Given the description of an element on the screen output the (x, y) to click on. 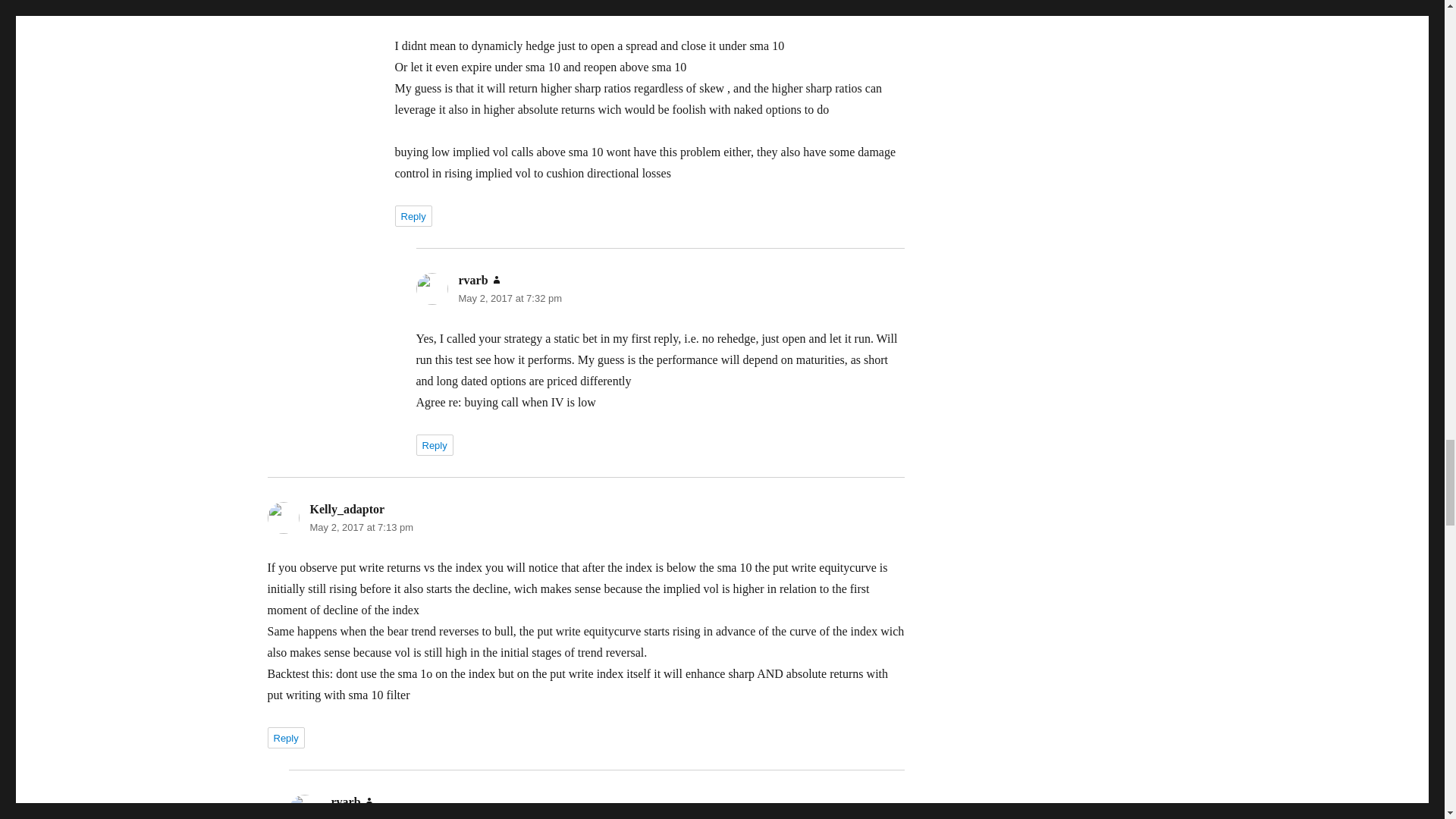
Reply (285, 737)
Reply (412, 215)
May 2, 2017 at 7:13 pm (360, 527)
May 2, 2017 at 7:32 pm (510, 297)
May 2, 2017 at 7:38 pm (381, 816)
Reply (433, 444)
May 2, 2017 at 7:00 pm (488, 5)
